Given the description of an element on the screen output the (x, y) to click on. 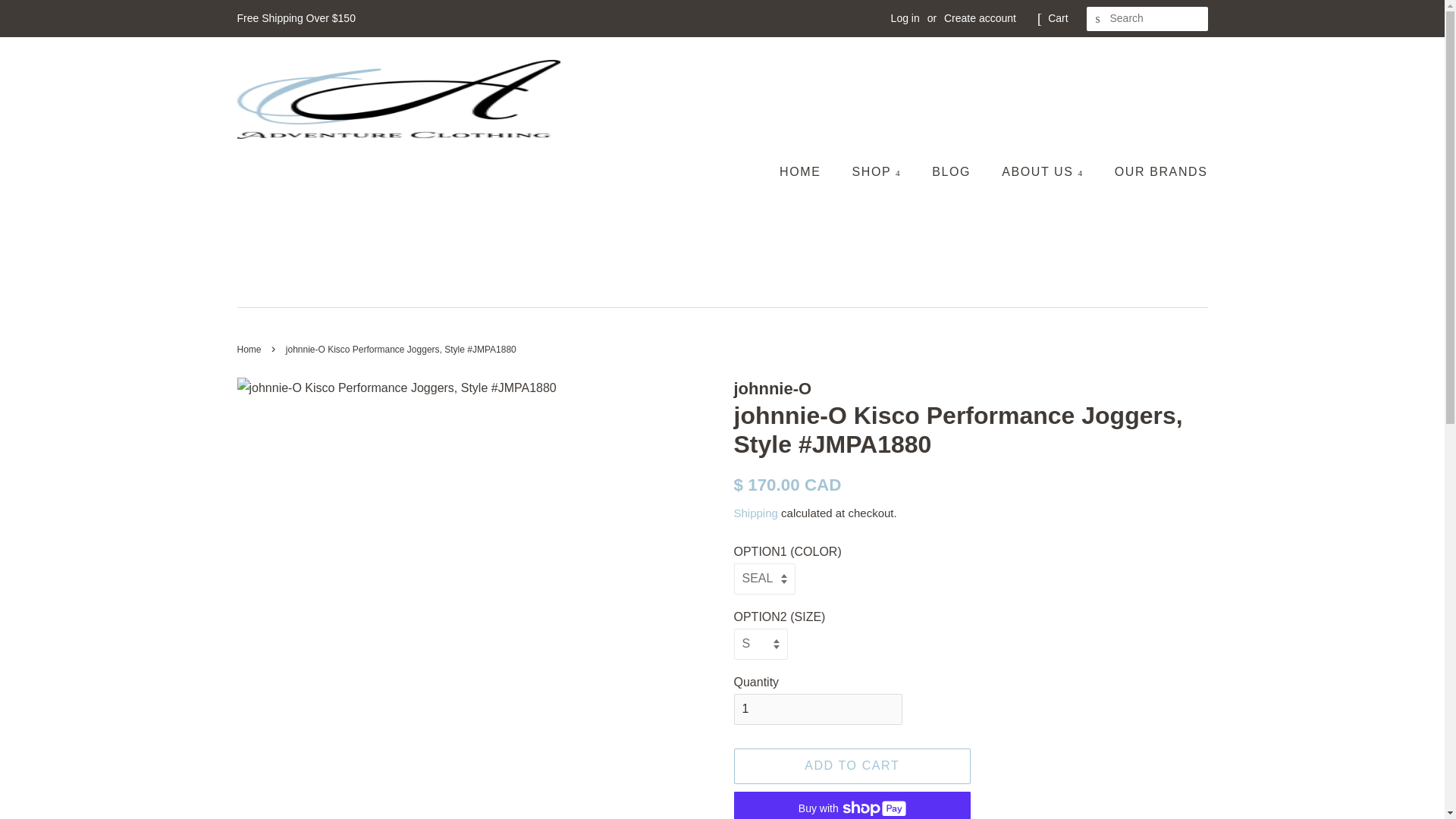
1 (817, 708)
Create account (979, 18)
Log in (905, 18)
Cart (1057, 18)
SEARCH (1097, 18)
Back to the frontpage (249, 348)
